Given the description of an element on the screen output the (x, y) to click on. 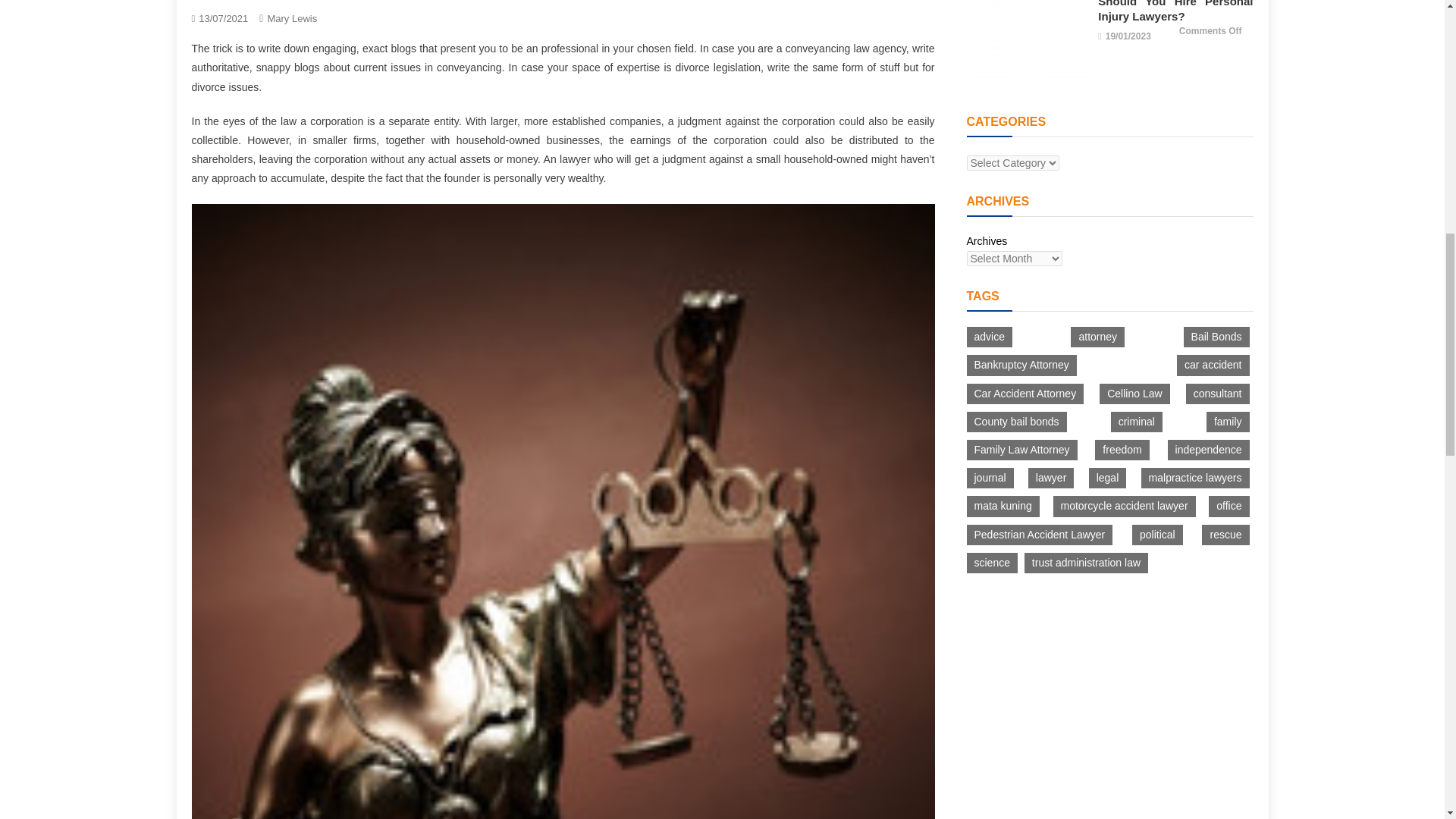
Law Firms (210, 0)
Should You Hire Personal Injury Lawyers? (1026, 42)
Mary Lewis (291, 18)
